Given the description of an element on the screen output the (x, y) to click on. 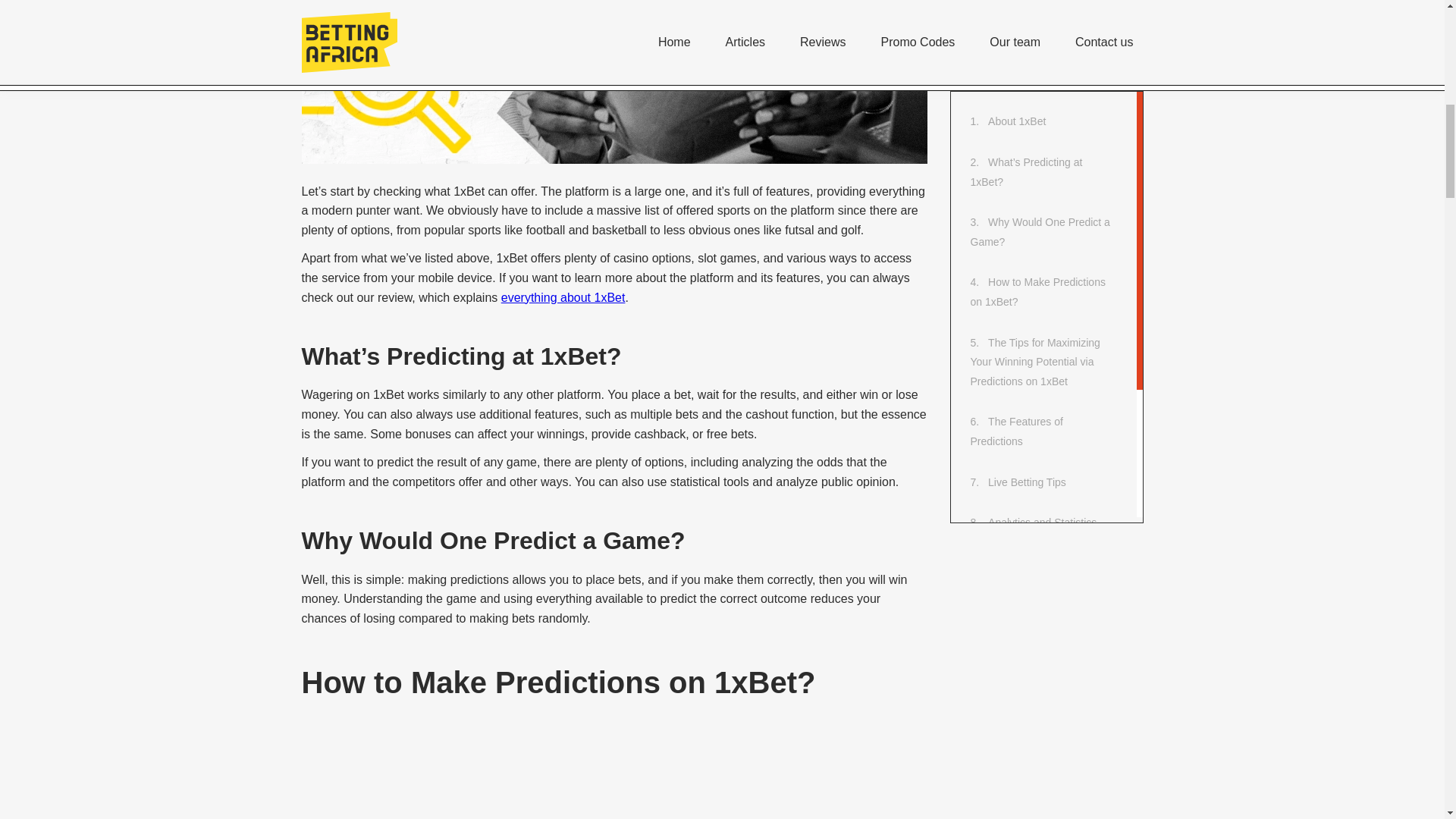
1xBet Jackpot Predictions (1048, 54)
Conclusion (1020, 135)
everything about 1xBet (563, 297)
1xBet Winning Tips (1039, 94)
Analytics and Statistics (1041, 13)
FAQ (1005, 175)
